Given the description of an element on the screen output the (x, y) to click on. 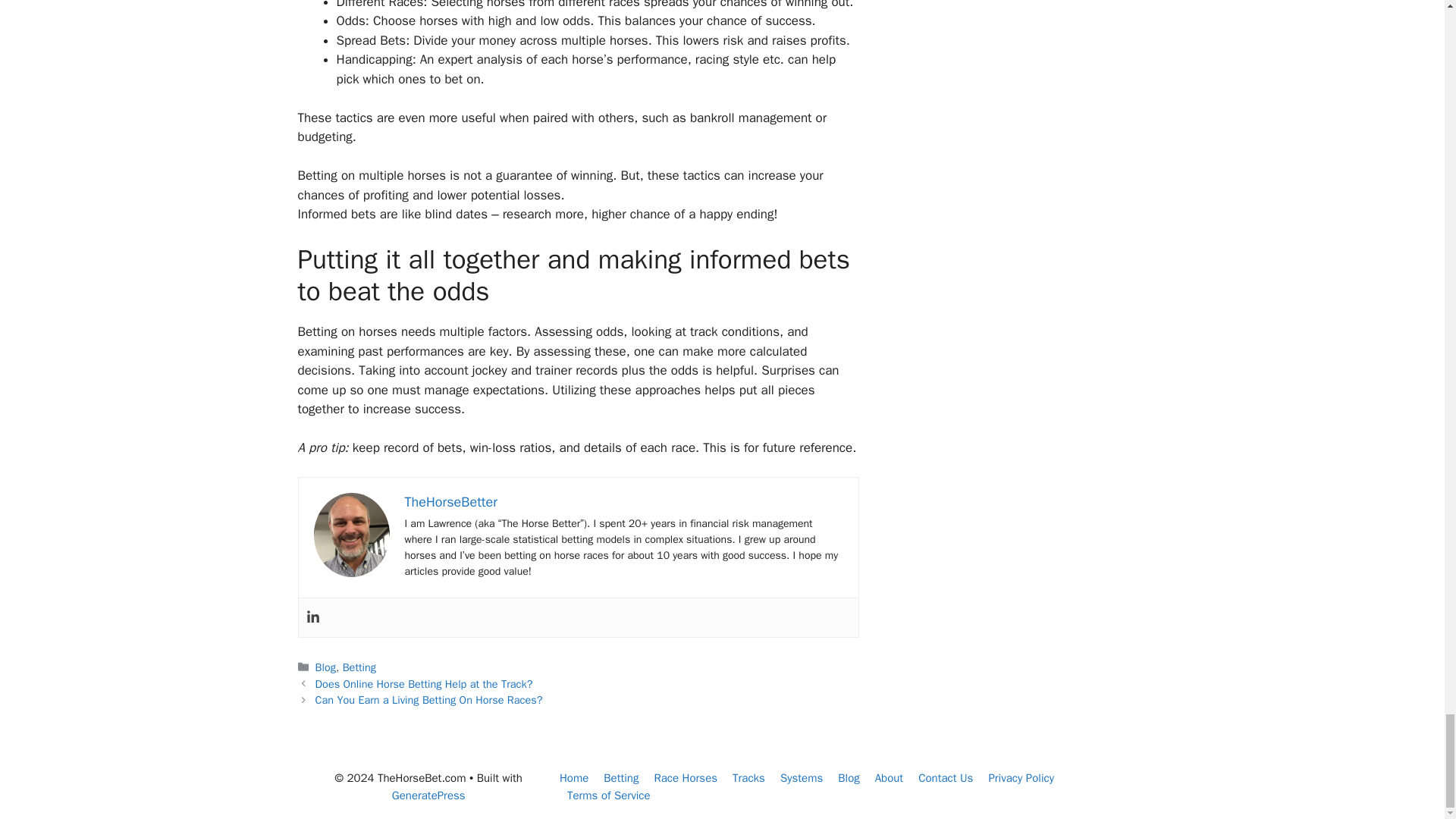
Privacy Policy (1021, 777)
Betting (358, 667)
Home (573, 777)
TheHorseBetter (450, 501)
GeneratePress (428, 795)
Can You Earn a Living Betting On Horse Races? (429, 699)
Does Online Horse Betting Help at the Track? (423, 684)
Terms of Service (608, 795)
Blog (325, 667)
Systems (801, 777)
